Given the description of an element on the screen output the (x, y) to click on. 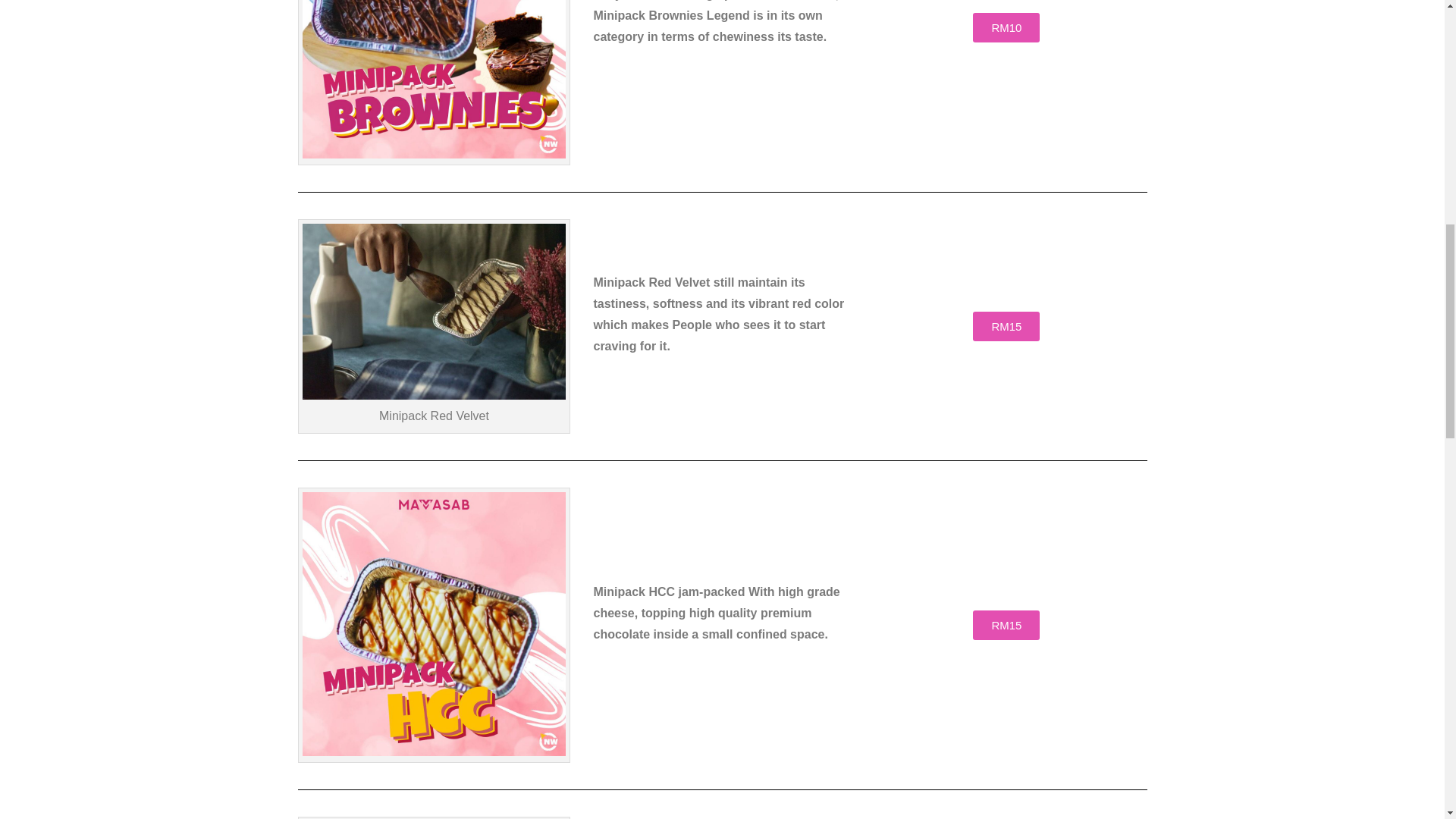
RM15 (1005, 326)
RM10 (1005, 27)
RM15 (1005, 624)
